Given the description of an element on the screen output the (x, y) to click on. 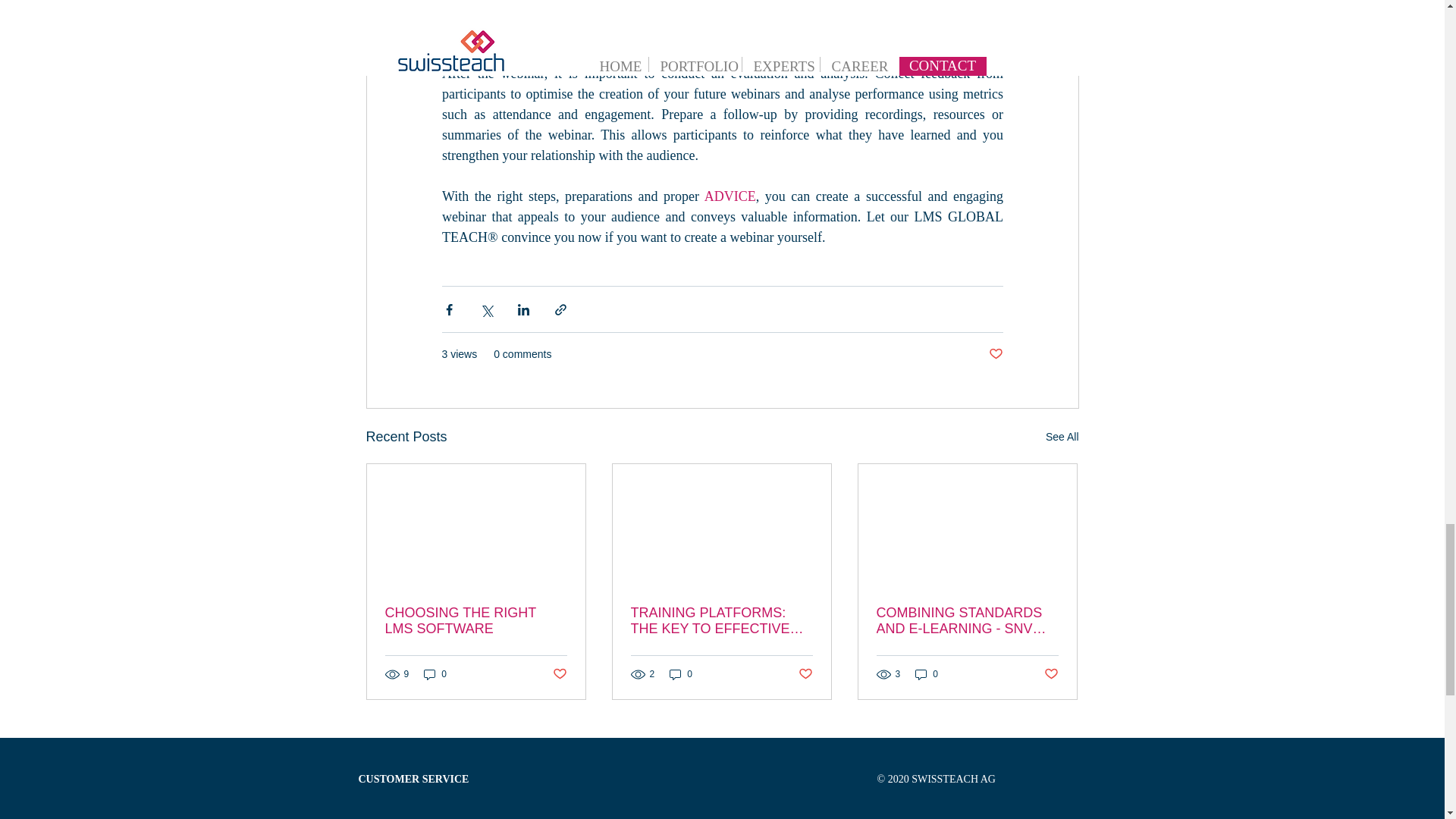
ADVICE (729, 196)
CHOOSING THE RIGHT LMS SOFTWARE (476, 621)
Post not marked as liked (995, 354)
Post not marked as liked (558, 674)
TRAINING PLATFORMS: THE KEY TO EFFECTIVE EMPLOYEE TRAINING (721, 621)
See All (1061, 436)
0 (435, 674)
